Given the description of an element on the screen output the (x, y) to click on. 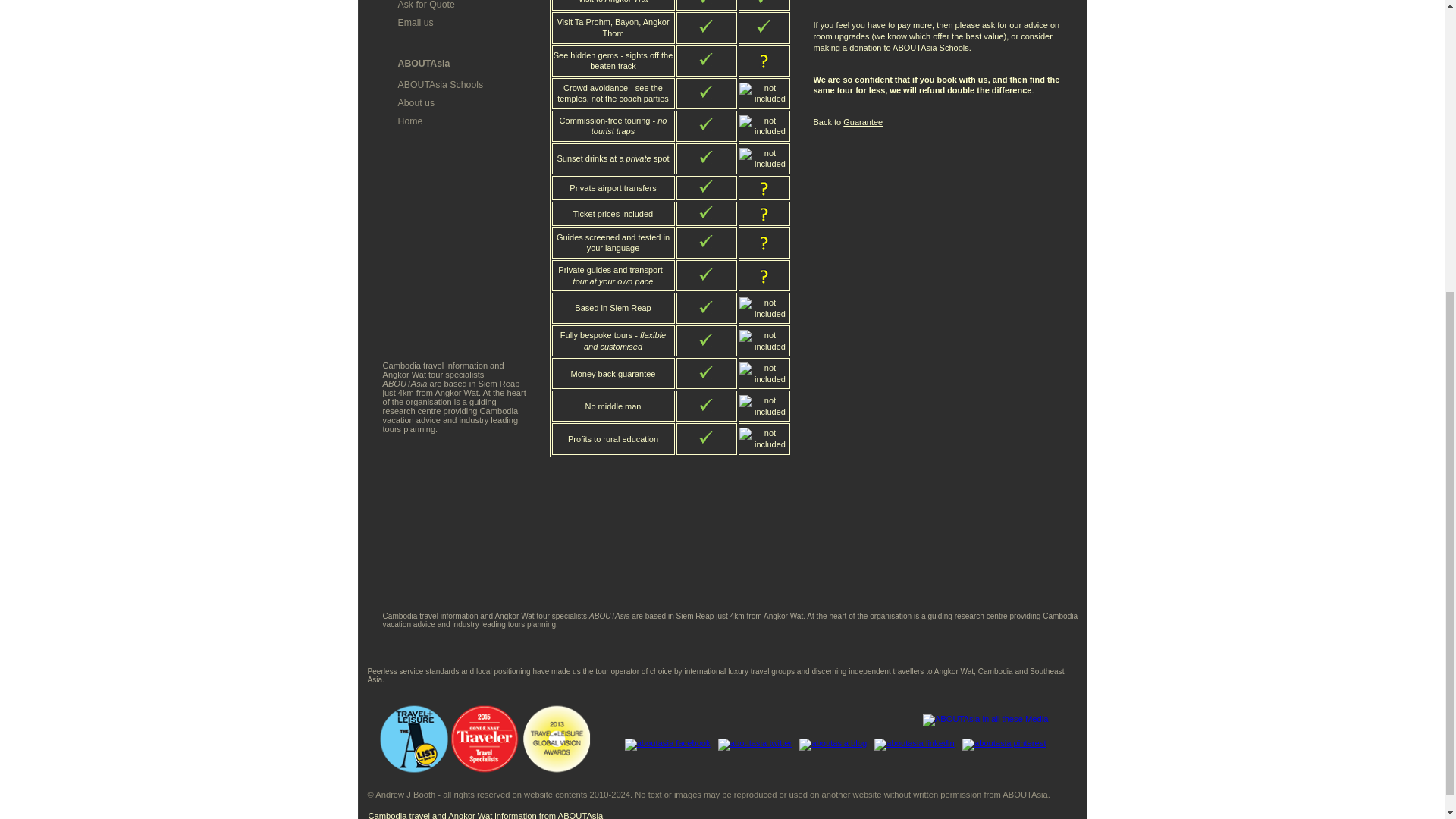
Home (409, 121)
Guarantee (862, 121)
Email us (414, 22)
Ask for Quote (425, 4)
ABOUTAsia Schools (440, 84)
About us (415, 102)
